Given the description of an element on the screen output the (x, y) to click on. 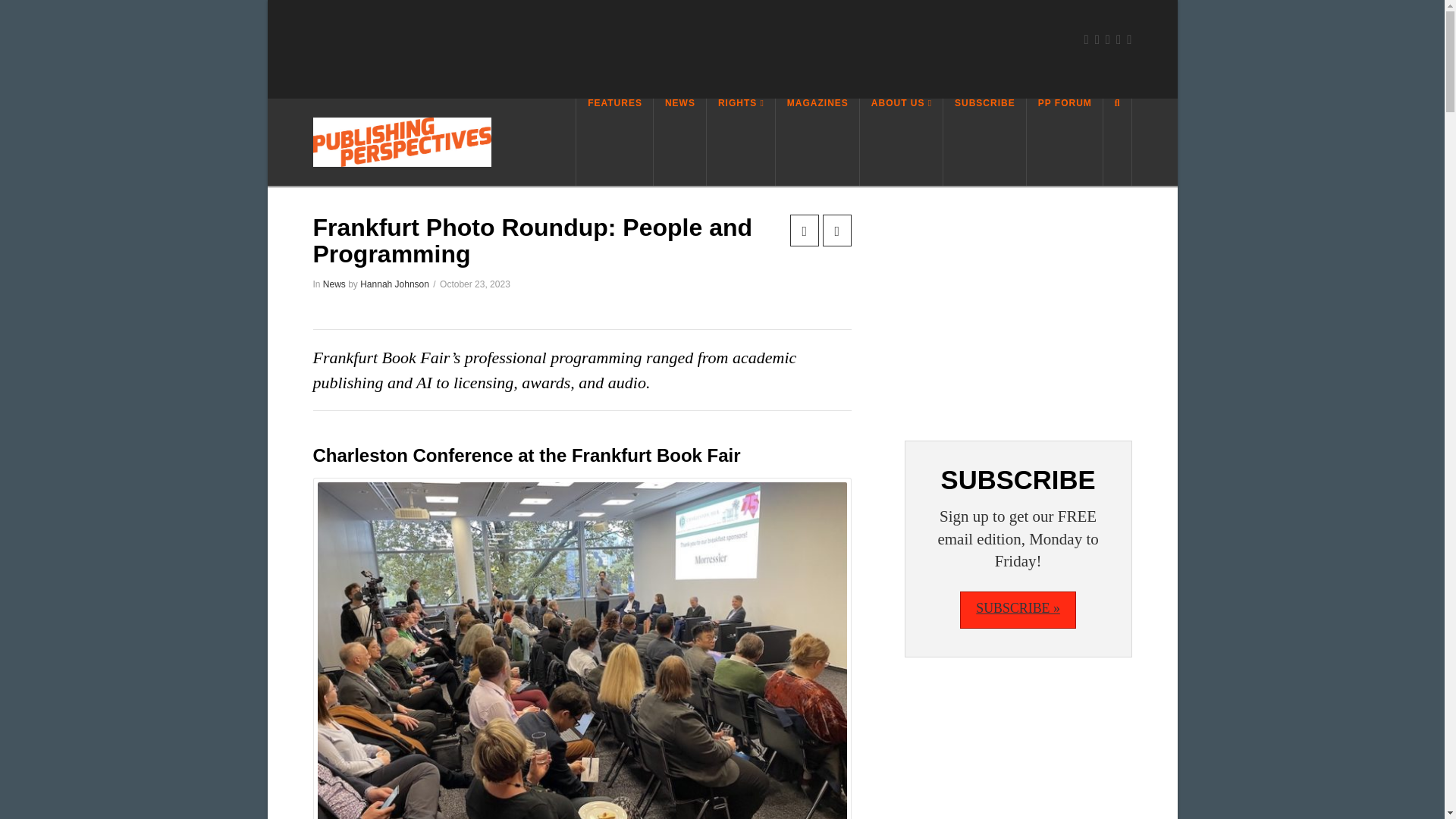
FEATURES (614, 141)
ABOUT US (901, 141)
Hannah Johnson (394, 284)
MAGAZINES (818, 141)
SUBSCRIBE (984, 141)
News (334, 284)
